Given the description of an element on the screen output the (x, y) to click on. 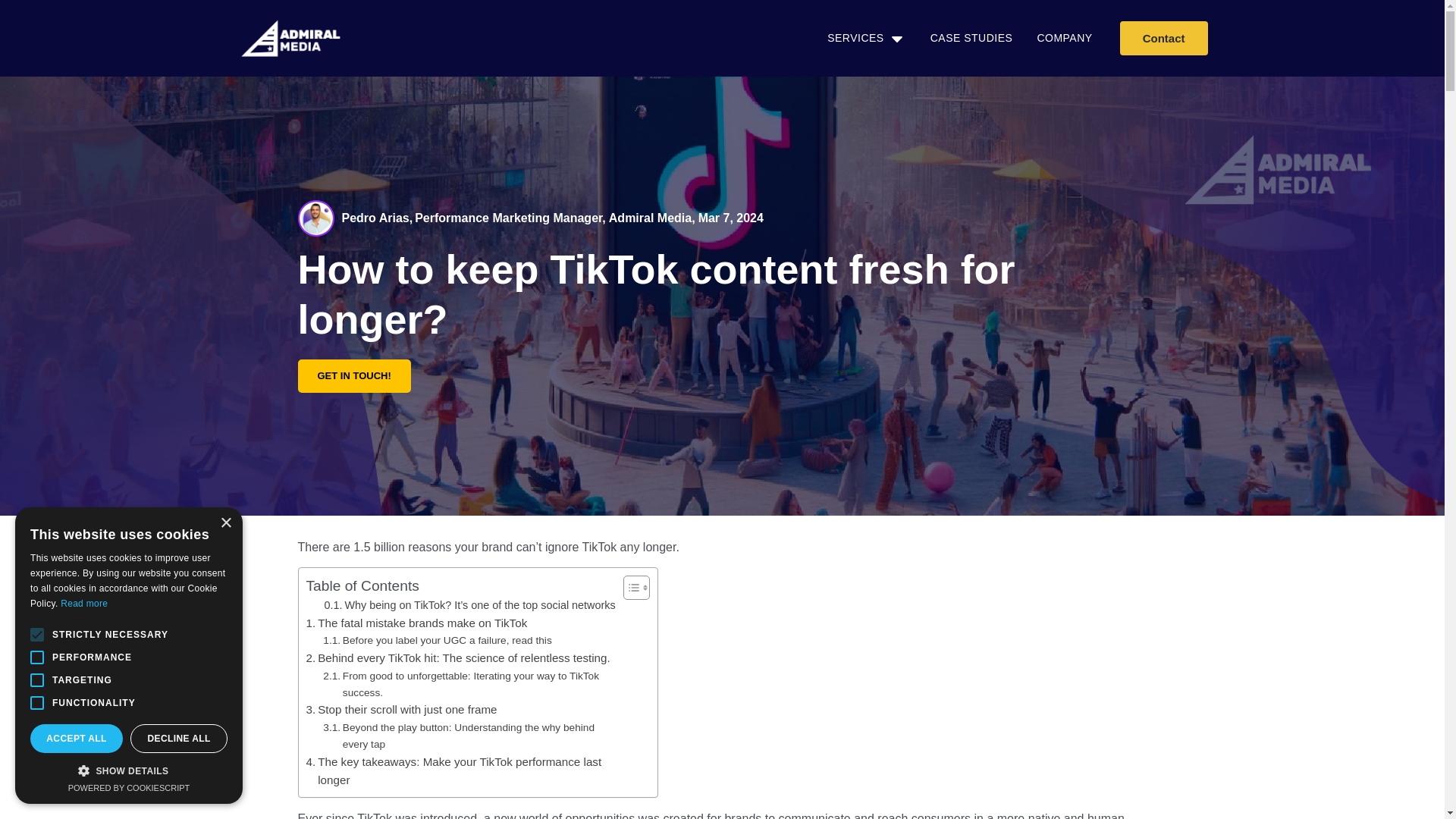
The key takeaways: Make your TikTok performance last longer (460, 771)
The fatal mistake brands make on TikTok (416, 623)
Before you label your UGC a failure, read this (437, 640)
The fatal mistake brands make on TikTok (416, 623)
Before you label your UGC a failure, read this (437, 640)
COMPANY (1064, 37)
Behind every TikTok hit: The science of relentless testing. (457, 658)
GET IN TOUCH! (353, 376)
Stop their scroll with just one frame (401, 710)
Contact (1163, 38)
CASE STUDIES (971, 37)
SERVICES (855, 37)
